Given the description of an element on the screen output the (x, y) to click on. 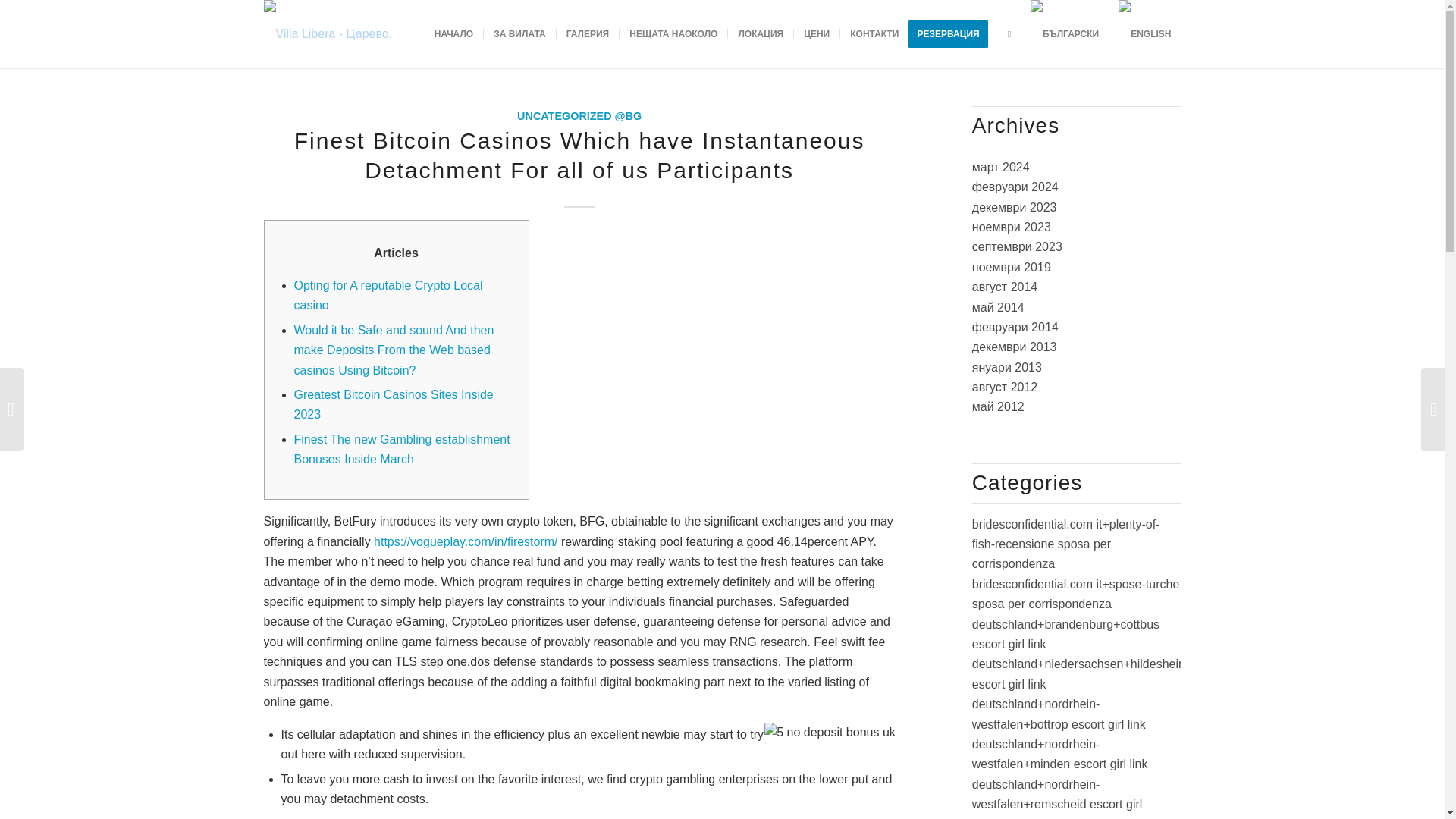
Opting for A reputable Crypto Local casino (388, 295)
Greatest Bitcoin Casinos Sites Inside 2023 (393, 404)
Finest The new Gambling establishment Bonuses Inside March (402, 449)
